Given the description of an element on the screen output the (x, y) to click on. 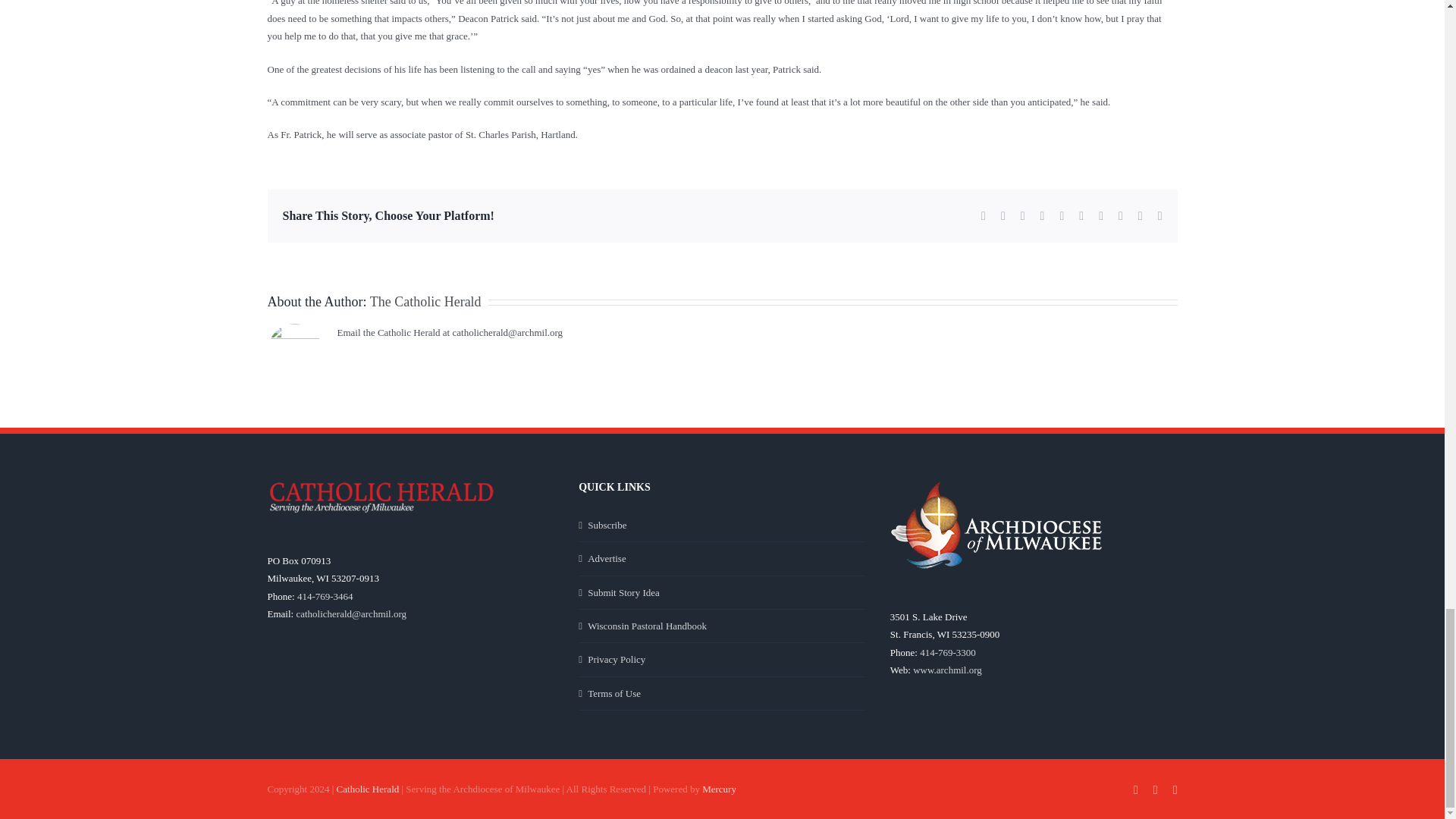
Posts by The Catholic Herald (425, 301)
